Given the description of an element on the screen output the (x, y) to click on. 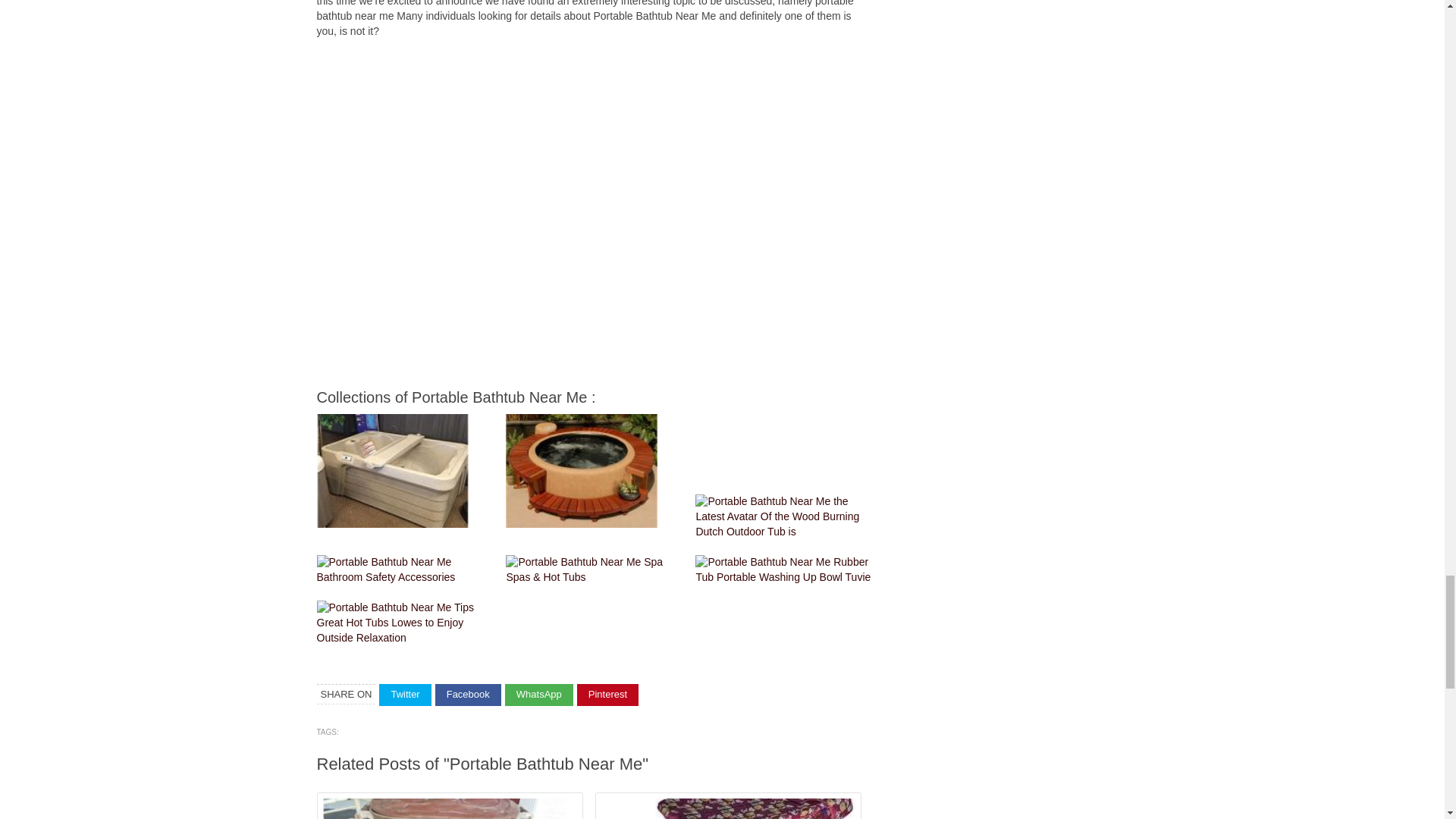
Facebook (467, 694)
Pinterest (607, 694)
WhatsApp (539, 694)
Portable Bathtub Near Me Bathroom Safety Accessories (408, 570)
Portable Bathtub Near Me Hot Tub (392, 470)
Twitter (404, 694)
